Given the description of an element on the screen output the (x, y) to click on. 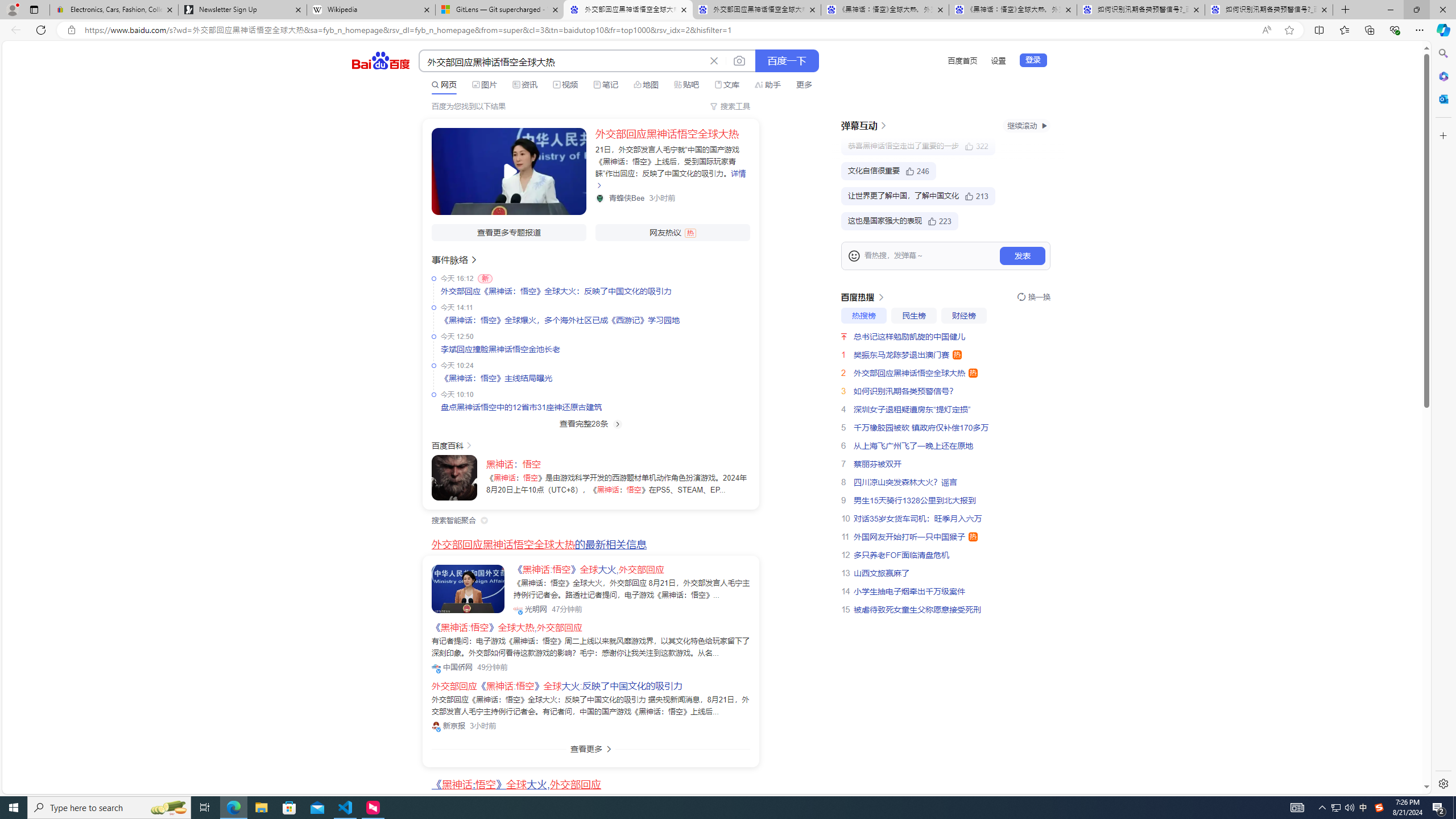
Class: c-img c-img-radius-large (466, 589)
